Given the description of an element on the screen output the (x, y) to click on. 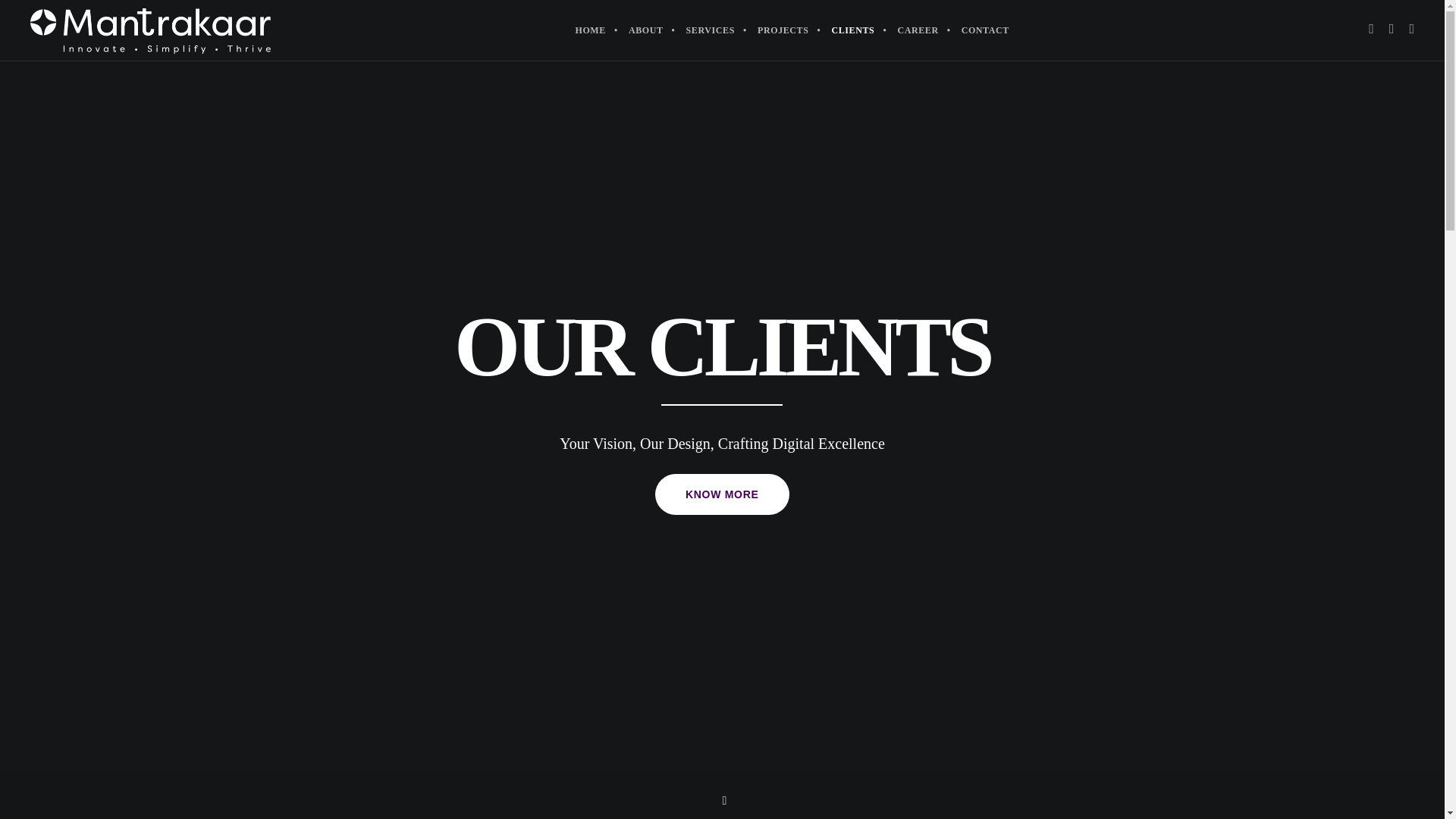
CLIENTS (852, 30)
PROJECTS (782, 30)
KNOW MORE (722, 494)
CAREER (917, 30)
SERVICES (710, 30)
ABOUT (646, 30)
CONTACT (985, 30)
